Given the description of an element on the screen output the (x, y) to click on. 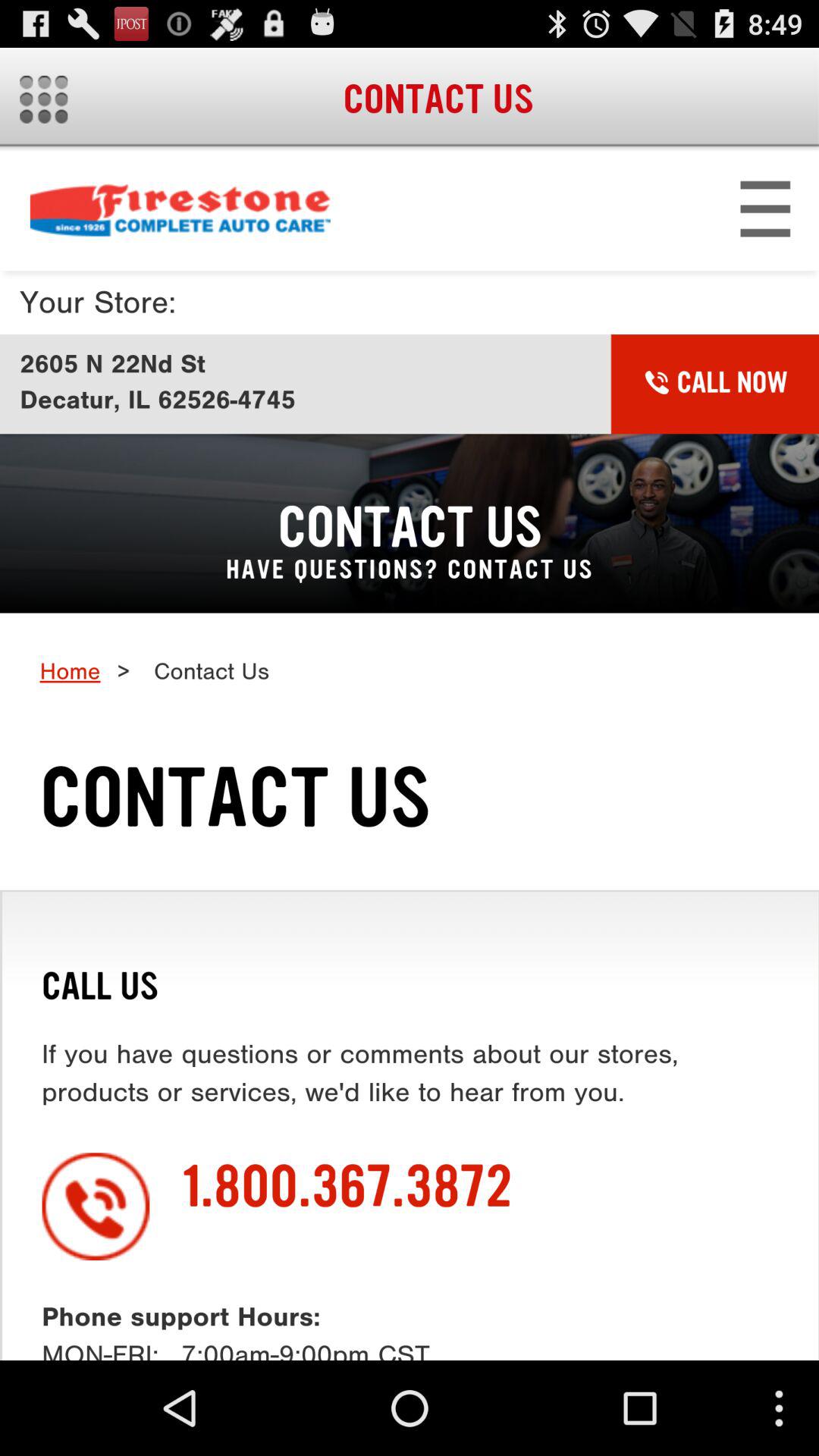
view more (43, 99)
